Given the description of an element on the screen output the (x, y) to click on. 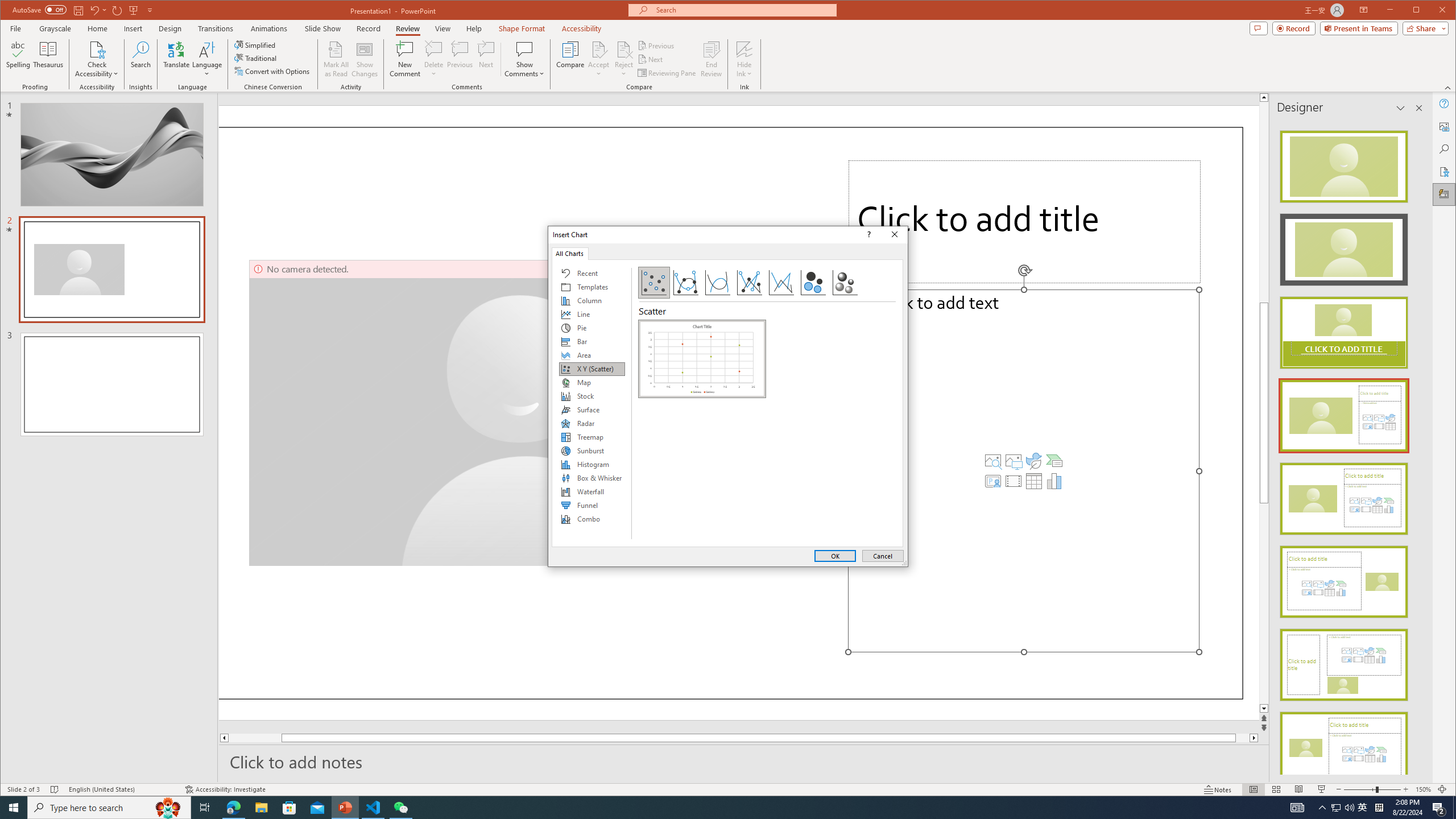
Zoom 150% (1422, 789)
Notification Chevron (1322, 807)
Class: NetUIScrollBar (1417, 447)
Scatter with Straight Lines (781, 282)
Box & Whisker (591, 477)
Class: NetUIImage (1343, 747)
